Given the description of an element on the screen output the (x, y) to click on. 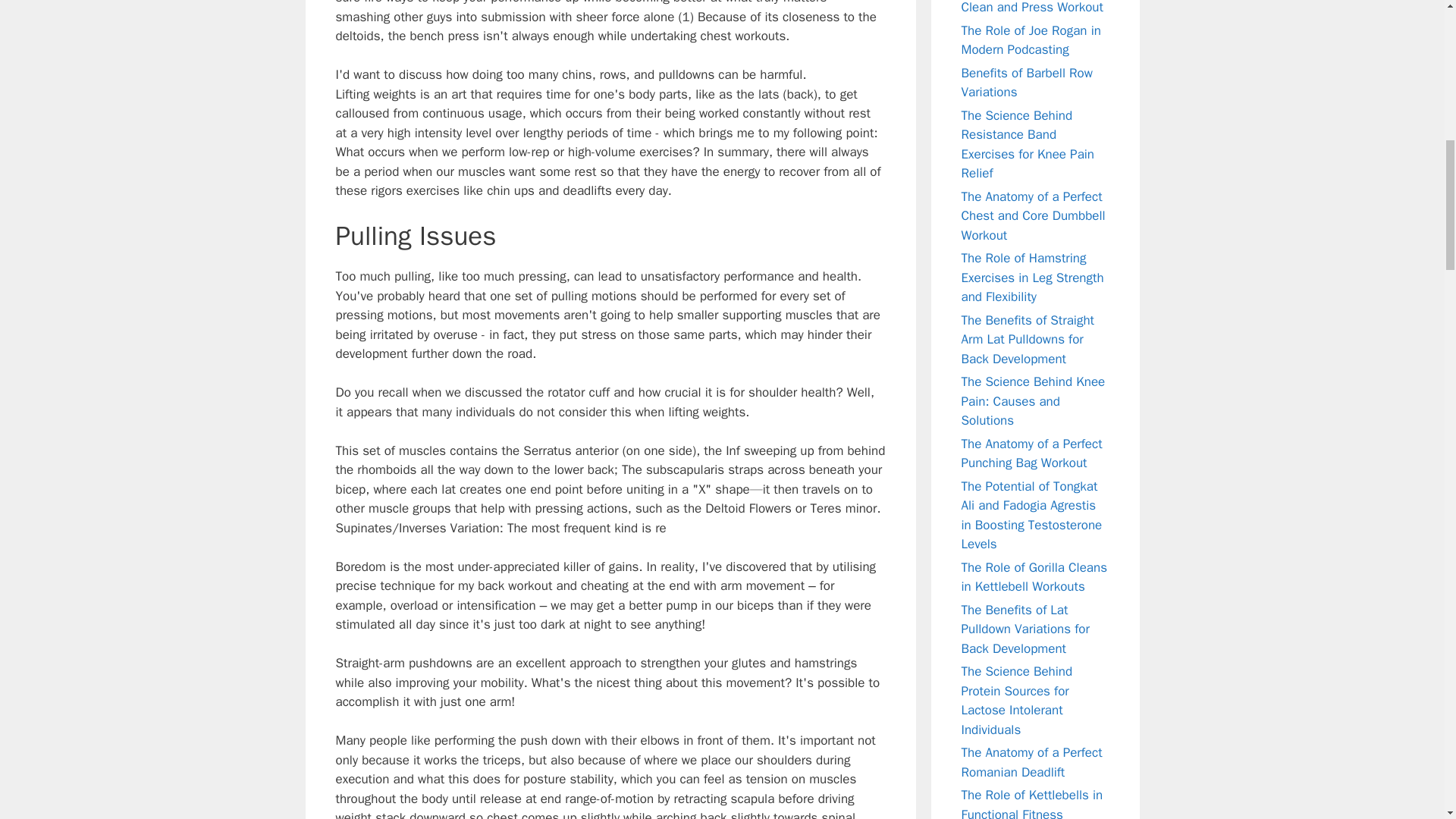
The Anatomy of a Perfect Romanian Deadlift (1031, 762)
The Role of Joe Rogan in Modern Podcasting (1030, 40)
The Role of Gorilla Cleans in Kettlebell Workouts (1033, 577)
The Anatomy of a Perfect Punching Bag Workout (1031, 452)
The Anatomy of a Perfect Chest and Core Dumbbell Workout (1032, 215)
The Anatomy of a Perfect Clean and Press Workout (1031, 7)
The Role of Kettlebells in Functional Fitness (1031, 803)
The Benefits of Lat Pulldown Variations for Back Development (1024, 628)
The Science Behind Knee Pain: Causes and Solutions (1032, 400)
Benefits of Barbell Row Variations (1026, 82)
